Given the description of an element on the screen output the (x, y) to click on. 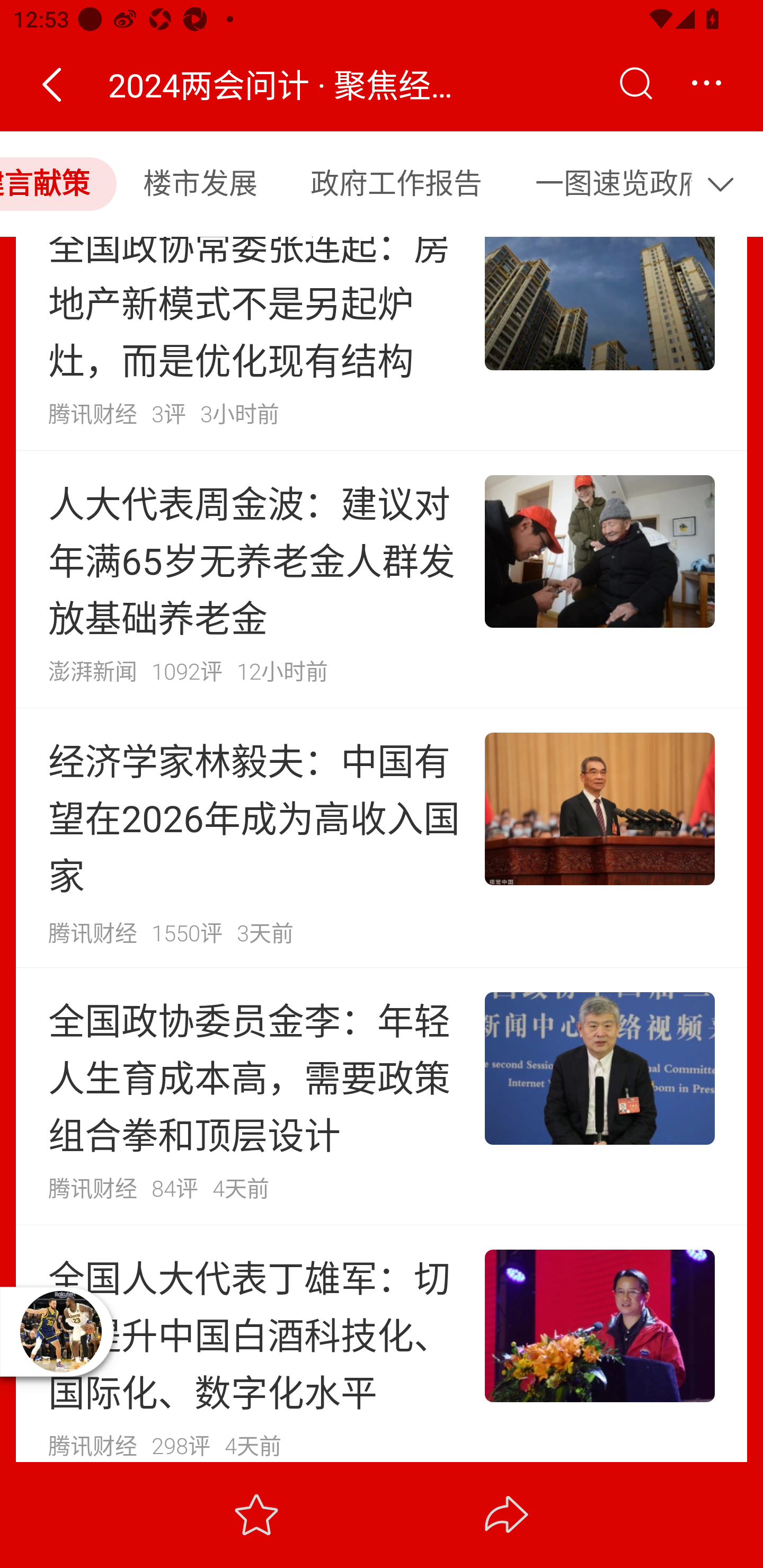
 (50, 83)
 (634, 83)
 (705, 83)
楼市发展 (199, 183)
政府工作报告 (395, 183)
一图速览政府工作报告 (601, 183)
 (724, 183)
全国政协常委张连起：房地产新模式不是另起炉灶，而是优化现有结构 腾讯财经 3评 3小时前 (381, 343)
人大代表周金波：建议对年满65岁无养老金人群发放基础养老金 澎湃新闻 1092评 12小时前 (381, 579)
经济学家林毅夫：中国有望在2026年成为高收入国家 腾讯财经 1550评 3天前 (381, 837)
全国政协委员金李：年轻人生育成本高，需要政策组合拳和顶层设计 腾讯财经 84评 4天前 (381, 1095)
全国人大代表丁雄军：切实提升中国白酒科技化、国际化、数字化水平 腾讯财经 298评 4天前 (381, 1342)
播放器 (60, 1331)
收藏  (255, 1514)
分享  (506, 1514)
